Given the description of an element on the screen output the (x, y) to click on. 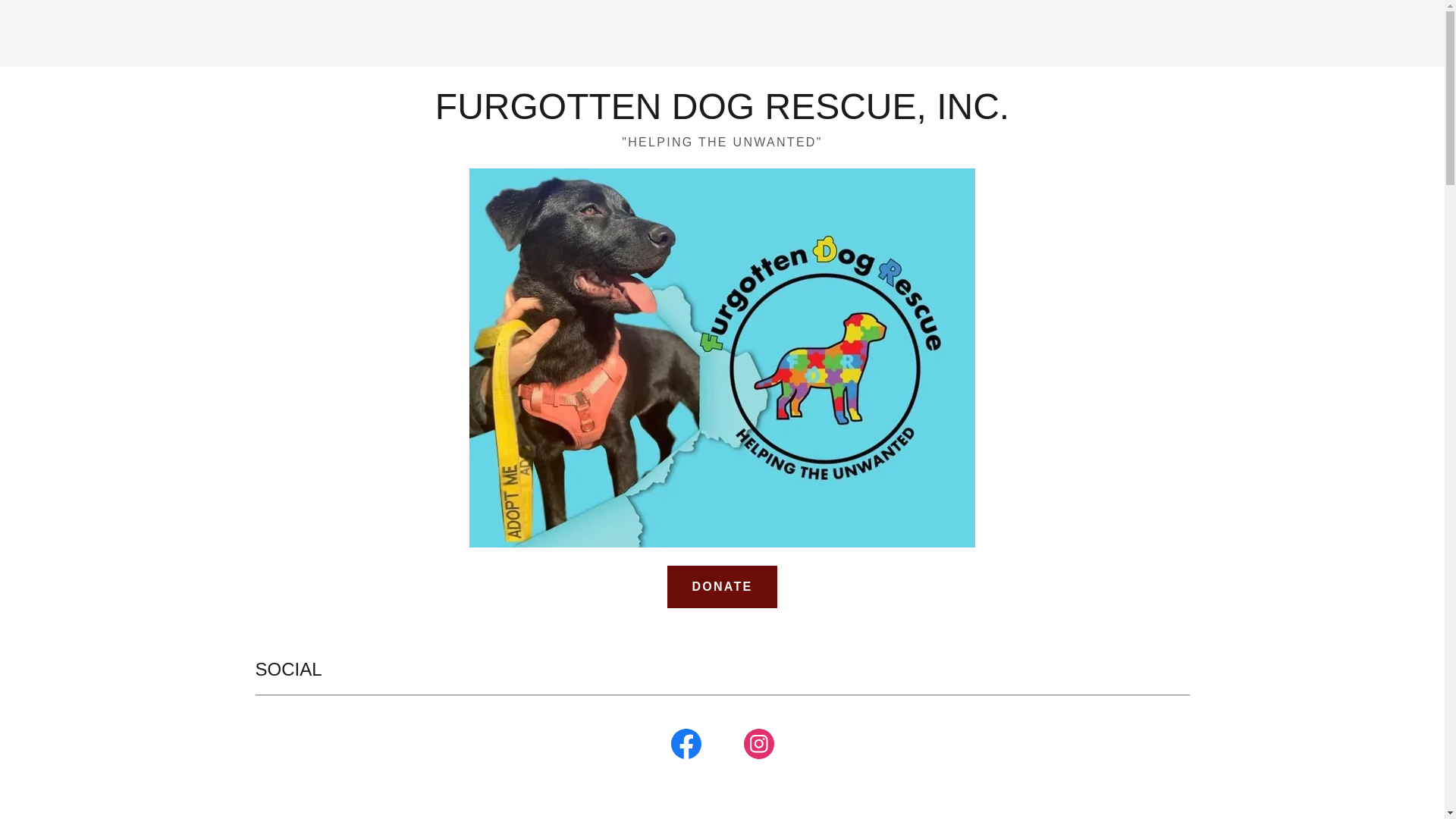
Furgotten Dog Rescue, Inc. (722, 114)
FURGOTTEN DOG RESCUE, INC. (722, 114)
DONATE (721, 586)
